Given the description of an element on the screen output the (x, y) to click on. 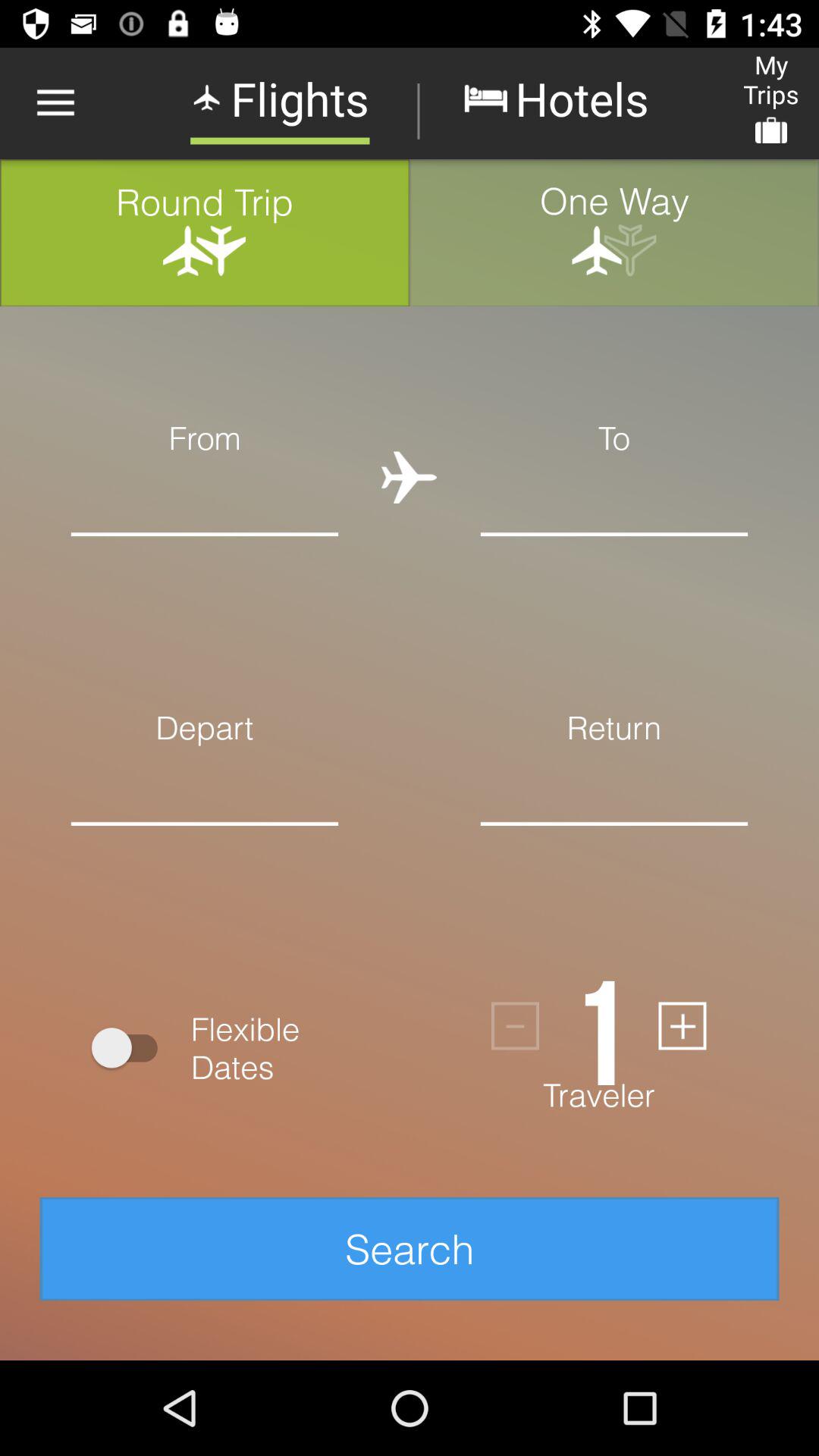
enter departure date (204, 847)
